Given the description of an element on the screen output the (x, y) to click on. 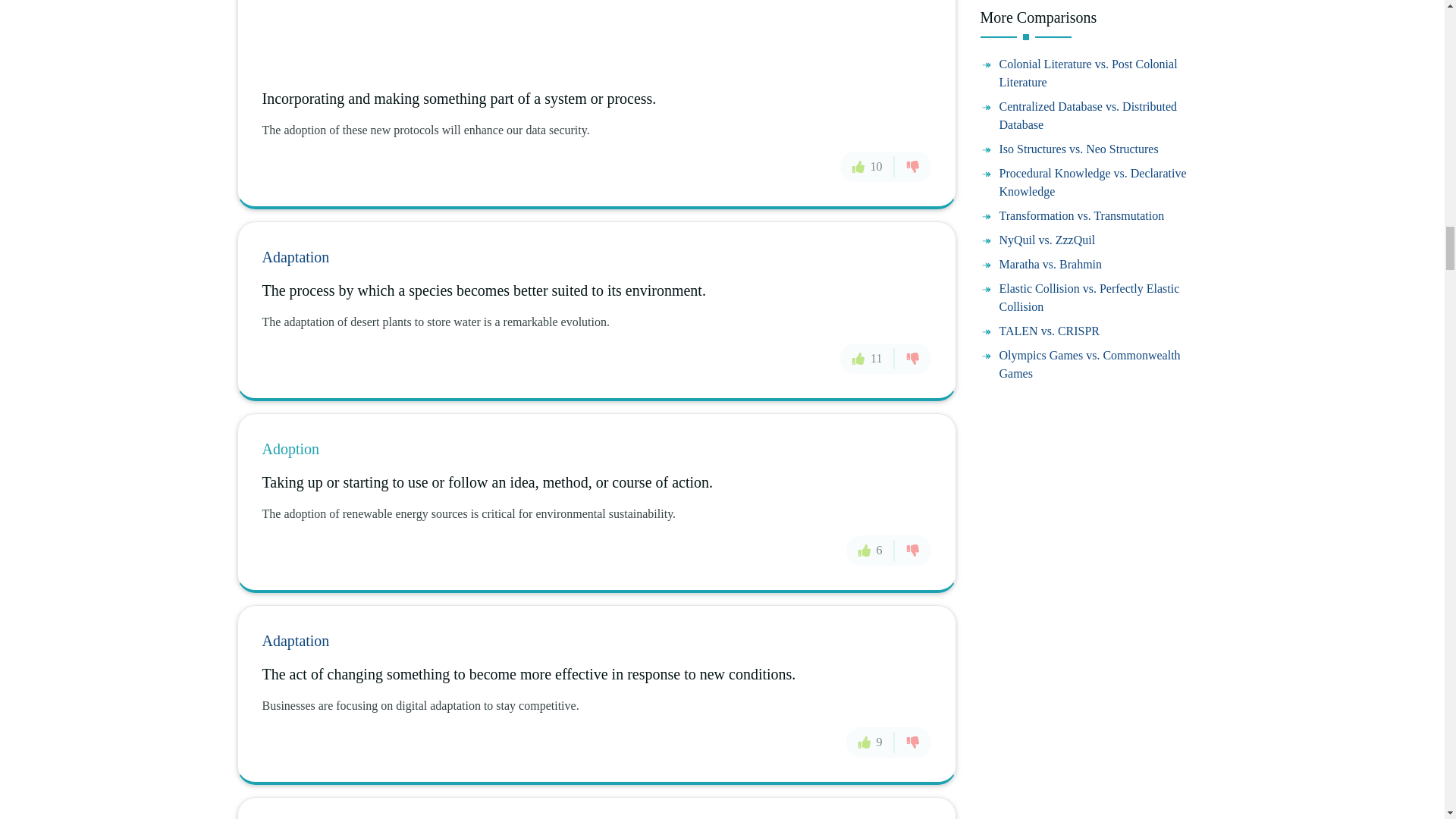
10 (867, 166)
